Given the description of an element on the screen output the (x, y) to click on. 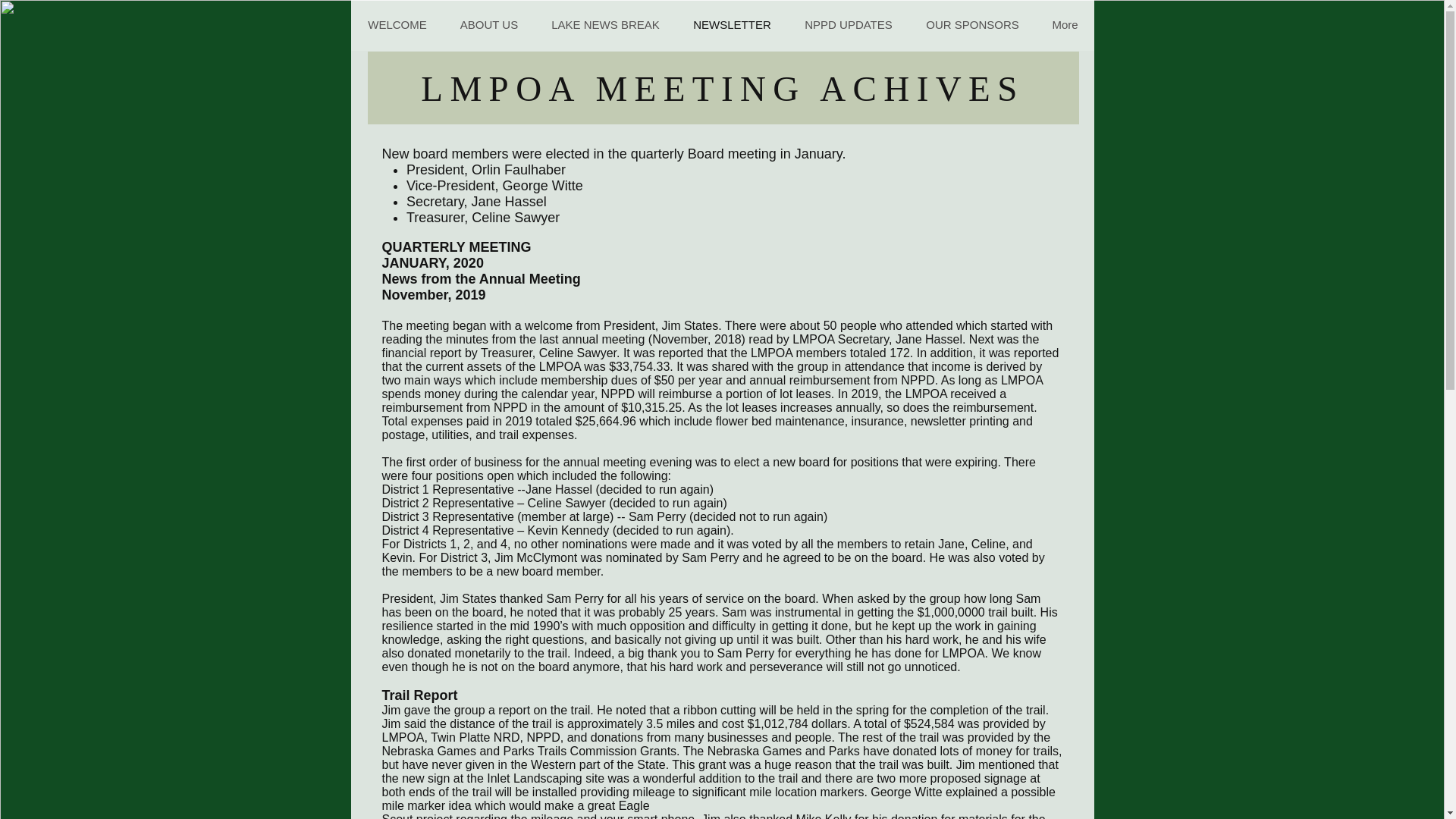
NEWSLETTER (732, 24)
NPPD UPDATES (847, 24)
WELCOME (398, 24)
OUR SPONSORS (971, 24)
ABOUT US (488, 24)
LAKE NEWS BREAK (604, 24)
